Given the description of an element on the screen output the (x, y) to click on. 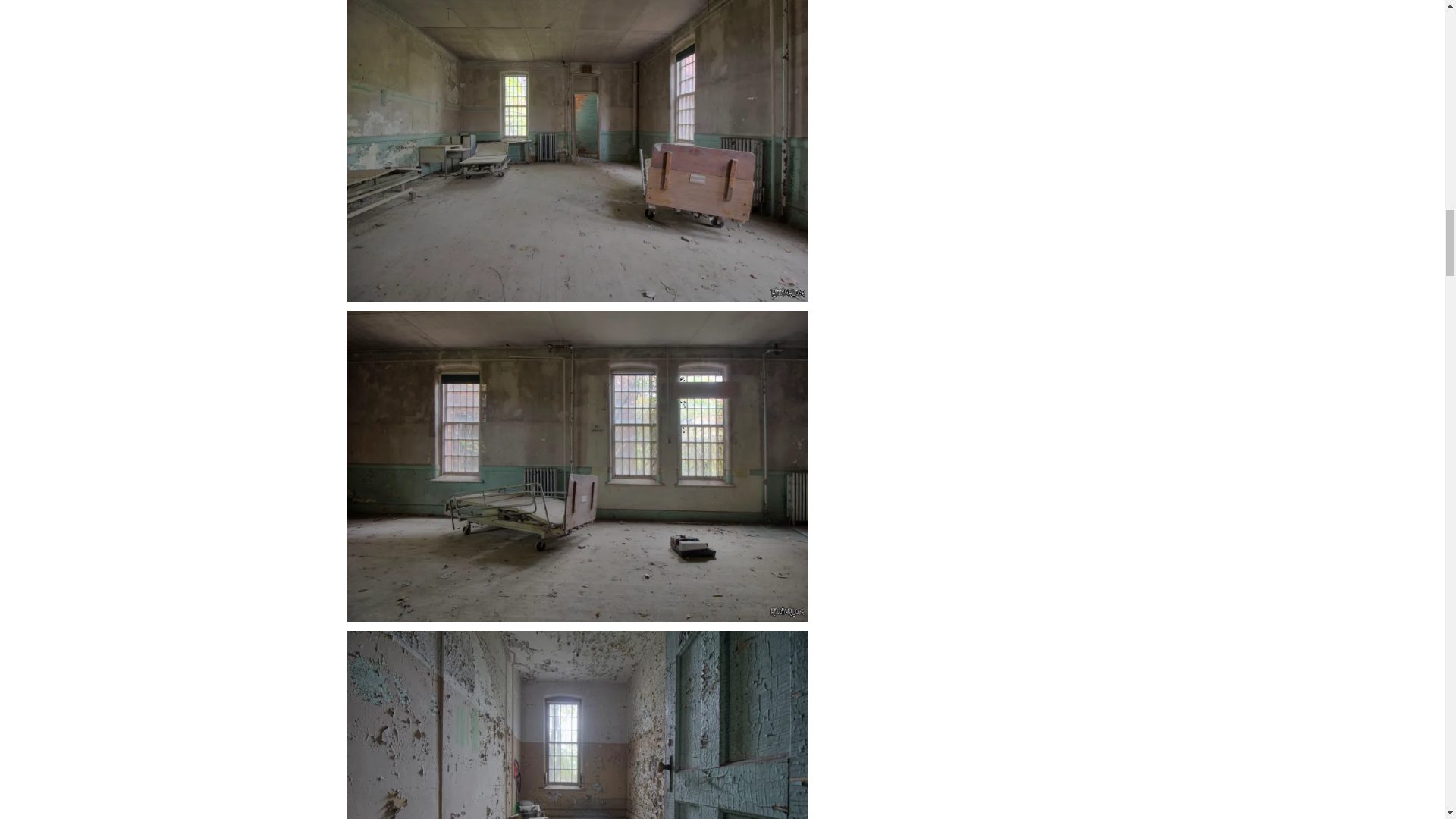
Willard Asylum for the Chronic Insane (577, 724)
